Given the description of an element on the screen output the (x, y) to click on. 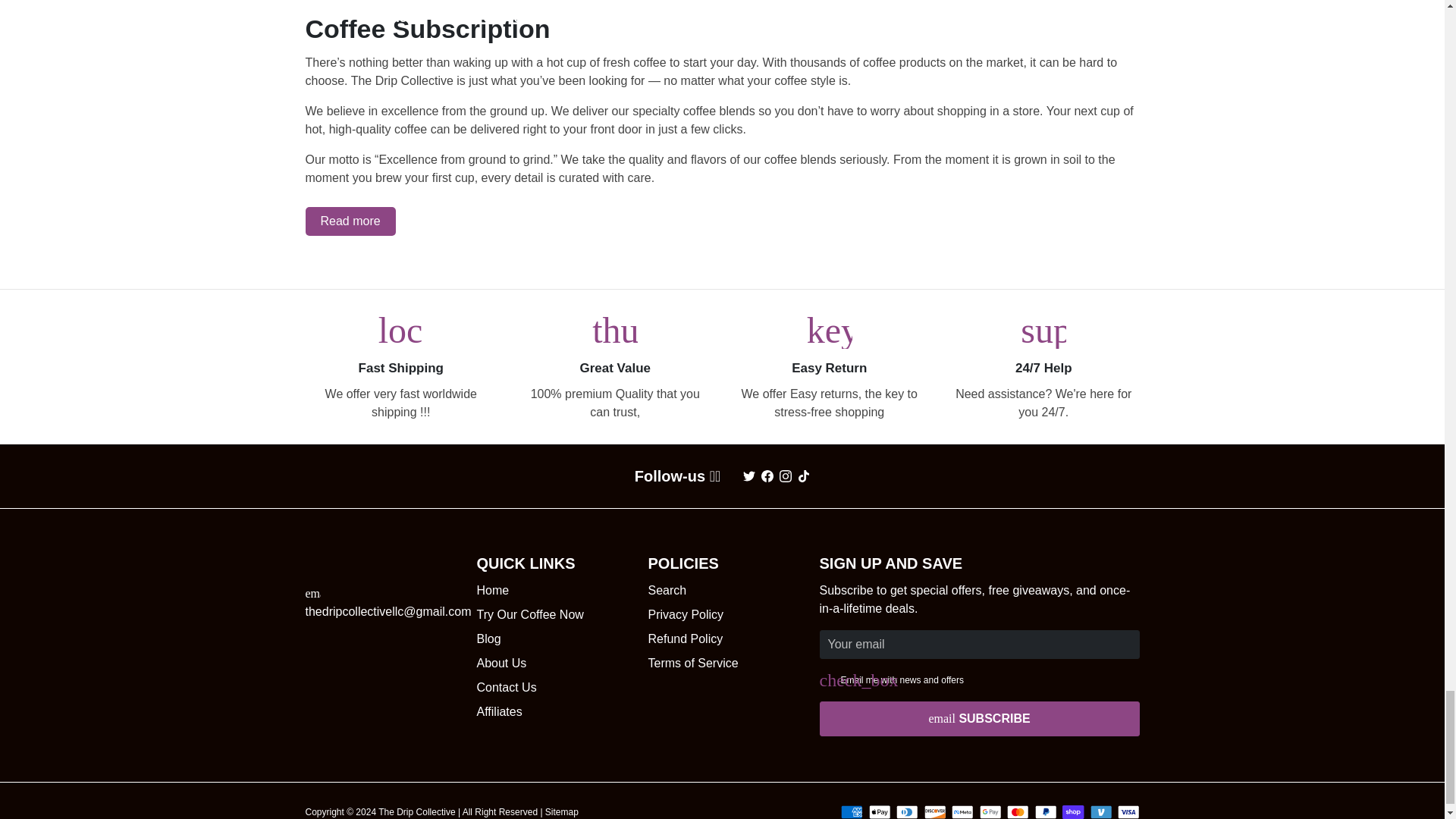
Venmo (1101, 812)
Apple Pay (880, 812)
Shop Pay (1073, 812)
Visa (1129, 812)
Discover (933, 812)
Diners Club (906, 812)
American Express (851, 812)
PayPal (1044, 812)
Google Pay (990, 812)
Mastercard (1018, 812)
